Given the description of an element on the screen output the (x, y) to click on. 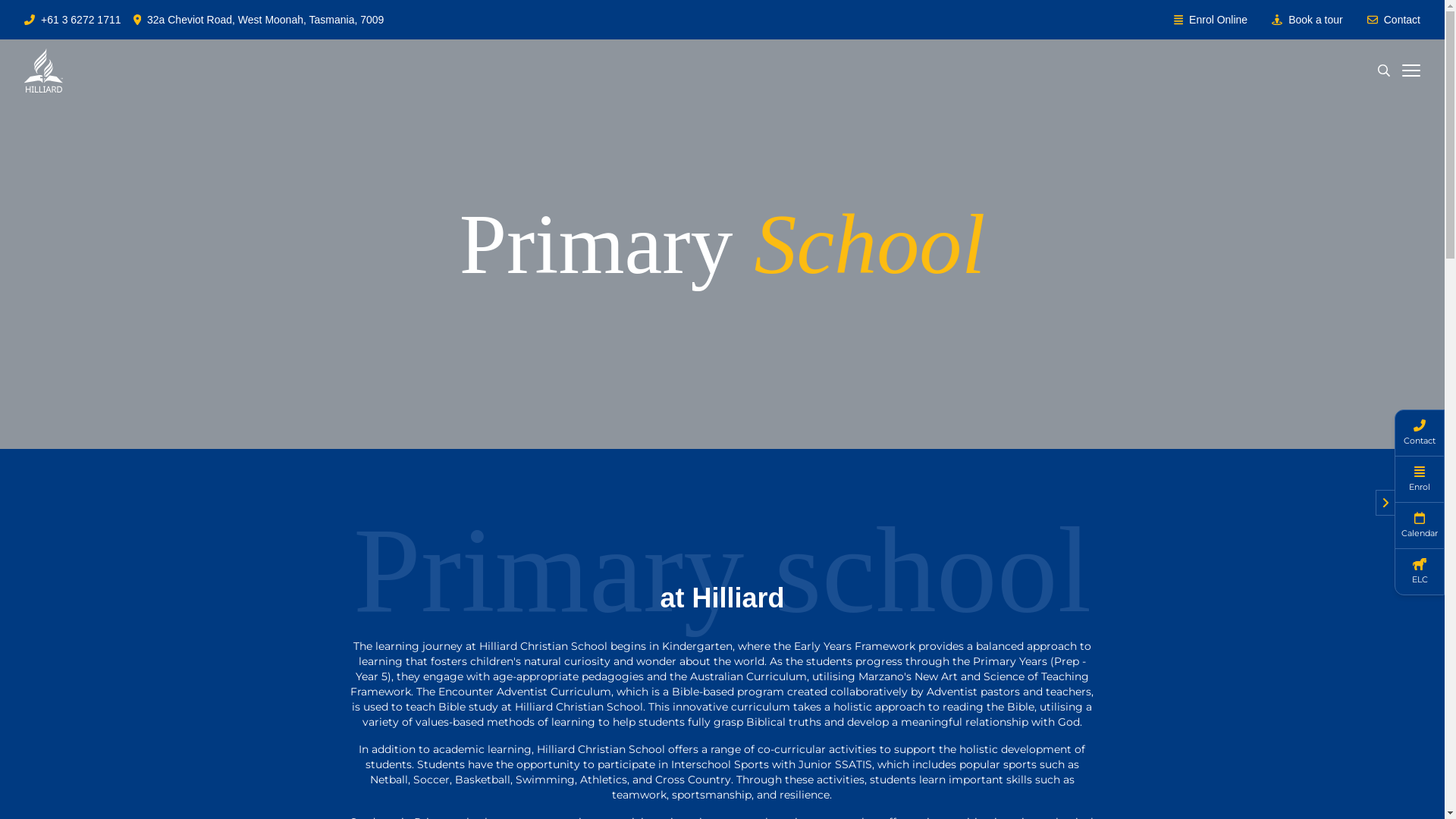
Contact Element type: text (1401, 19)
Hilliard Element type: hover (43, 70)
Enrol Online Element type: text (1218, 19)
Book a tour Element type: text (1315, 19)
+61 3 6272 1711 Element type: text (80, 19)
Open menu Element type: text (1411, 70)
Hilliard Element type: text (43, 70)
